Given the description of an element on the screen output the (x, y) to click on. 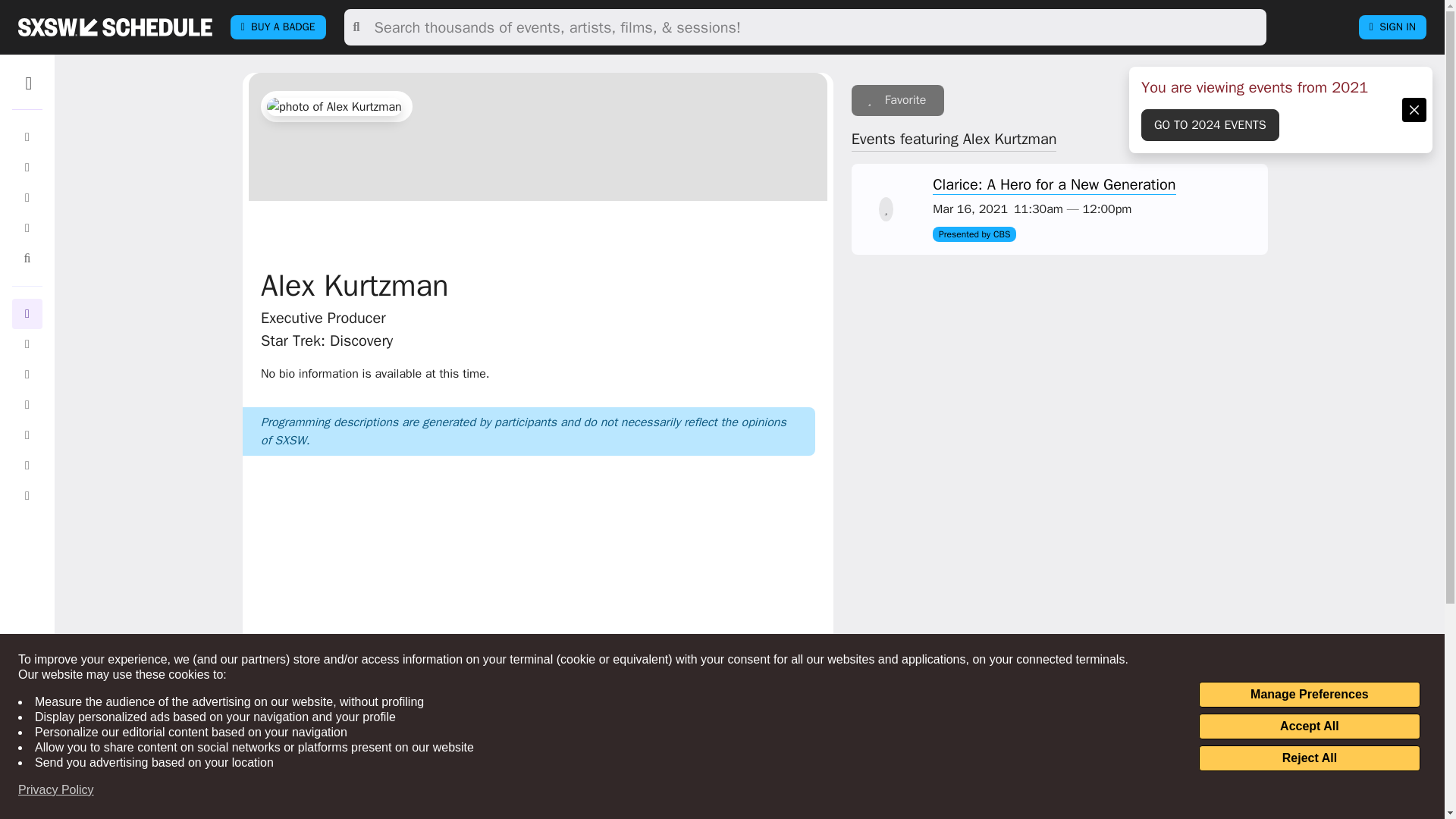
Reject All (1309, 758)
Accept All (1309, 726)
SIGN IN (1392, 27)
Sign In to add to your favorites. (897, 100)
GO TO 2024 EVENTS (1210, 124)
Privacy Policy (55, 789)
sxsw SCHEDULE (114, 27)
BUY A BADGE (278, 27)
Manage Preferences (1309, 694)
